Given the description of an element on the screen output the (x, y) to click on. 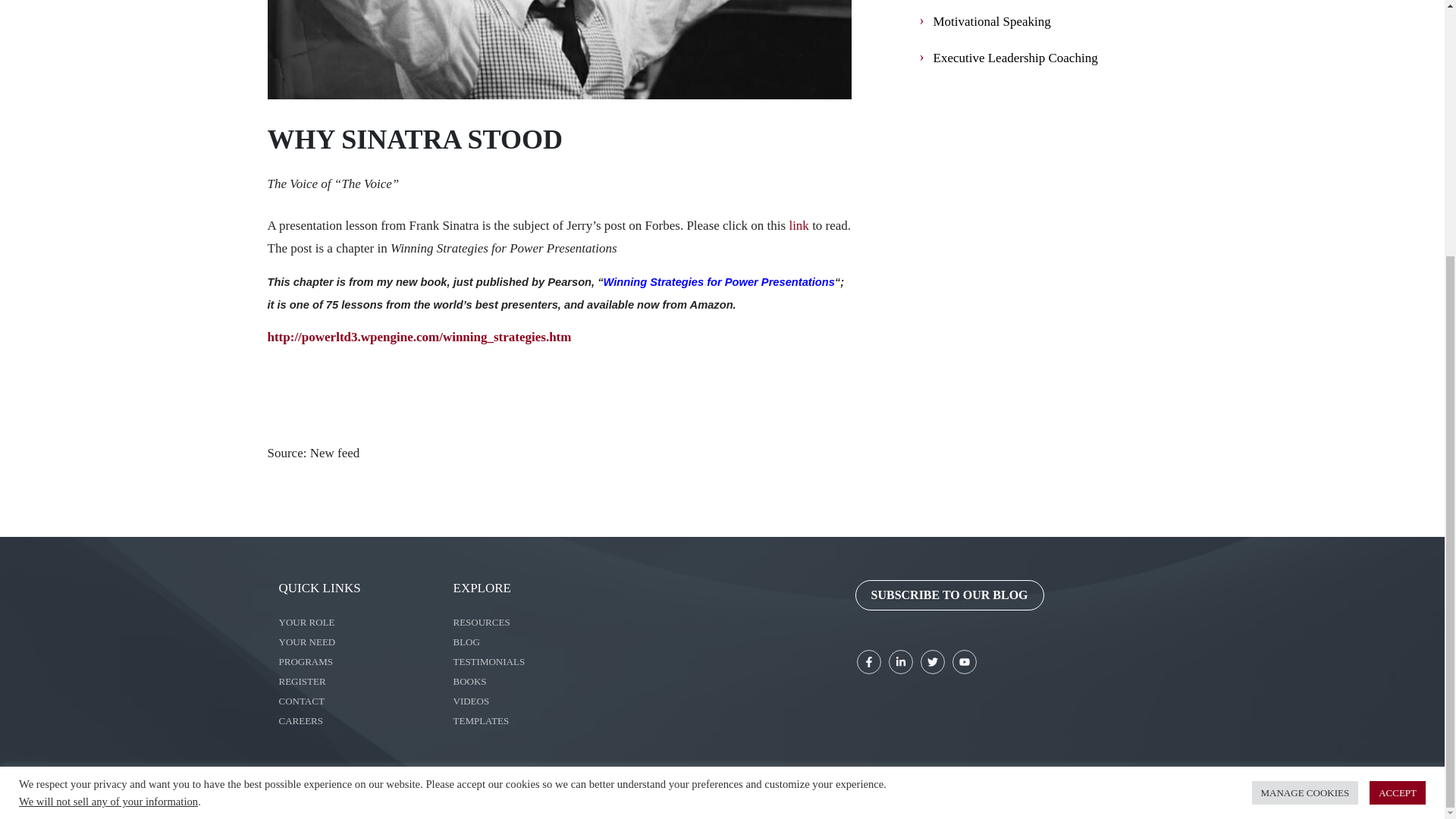
link (798, 225)
Winning Strategies for Power Presentations (719, 282)
